Given the description of an element on the screen output the (x, y) to click on. 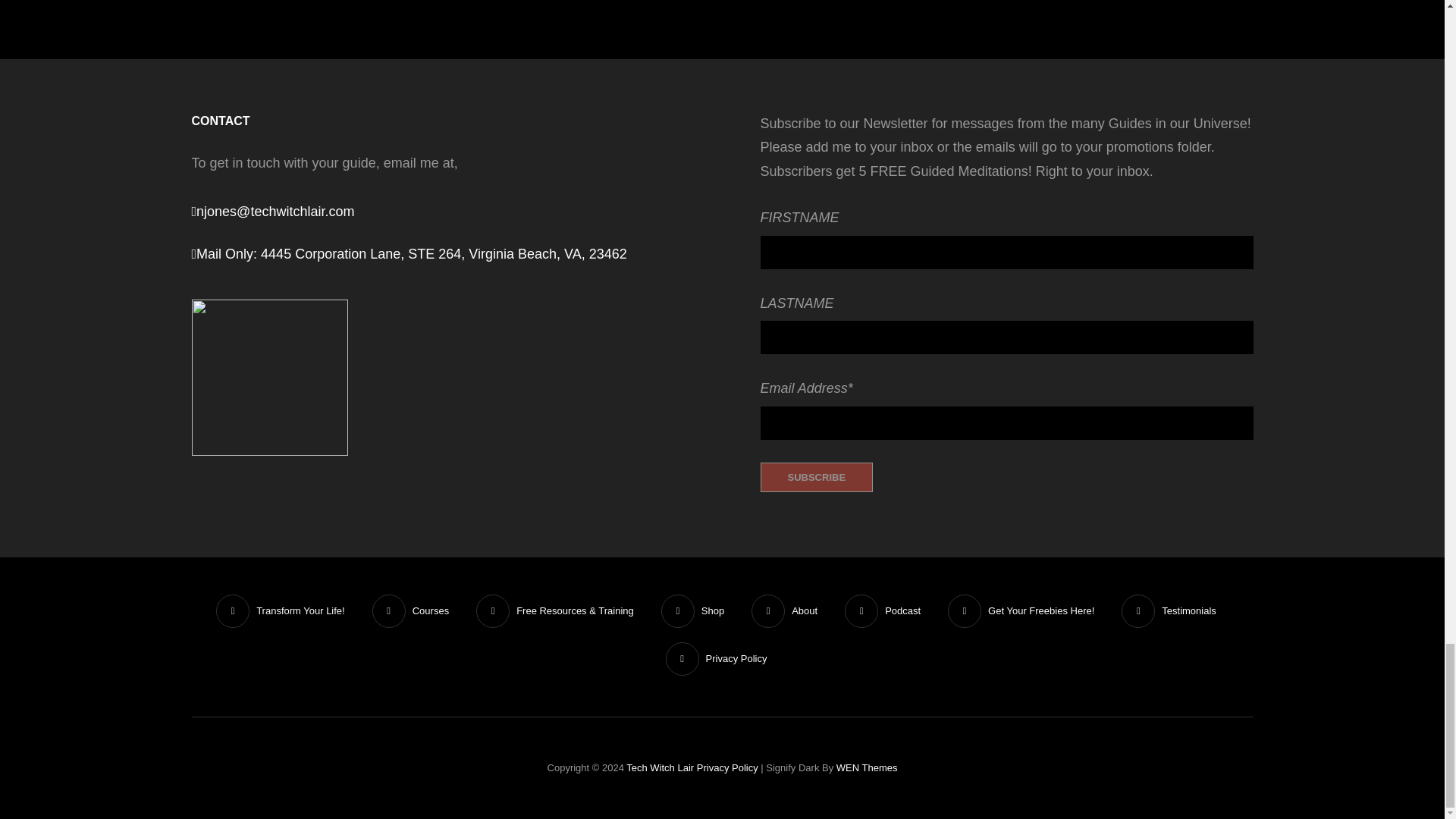
Subscribe (816, 477)
Privacy Policy (716, 658)
Subscribe (816, 477)
Transform Your Life! (280, 610)
Courses (411, 610)
Podcast (882, 610)
Shop (692, 610)
Testimonials (1168, 610)
Get Your Freebies Here! (1021, 610)
About (784, 610)
